Given the description of an element on the screen output the (x, y) to click on. 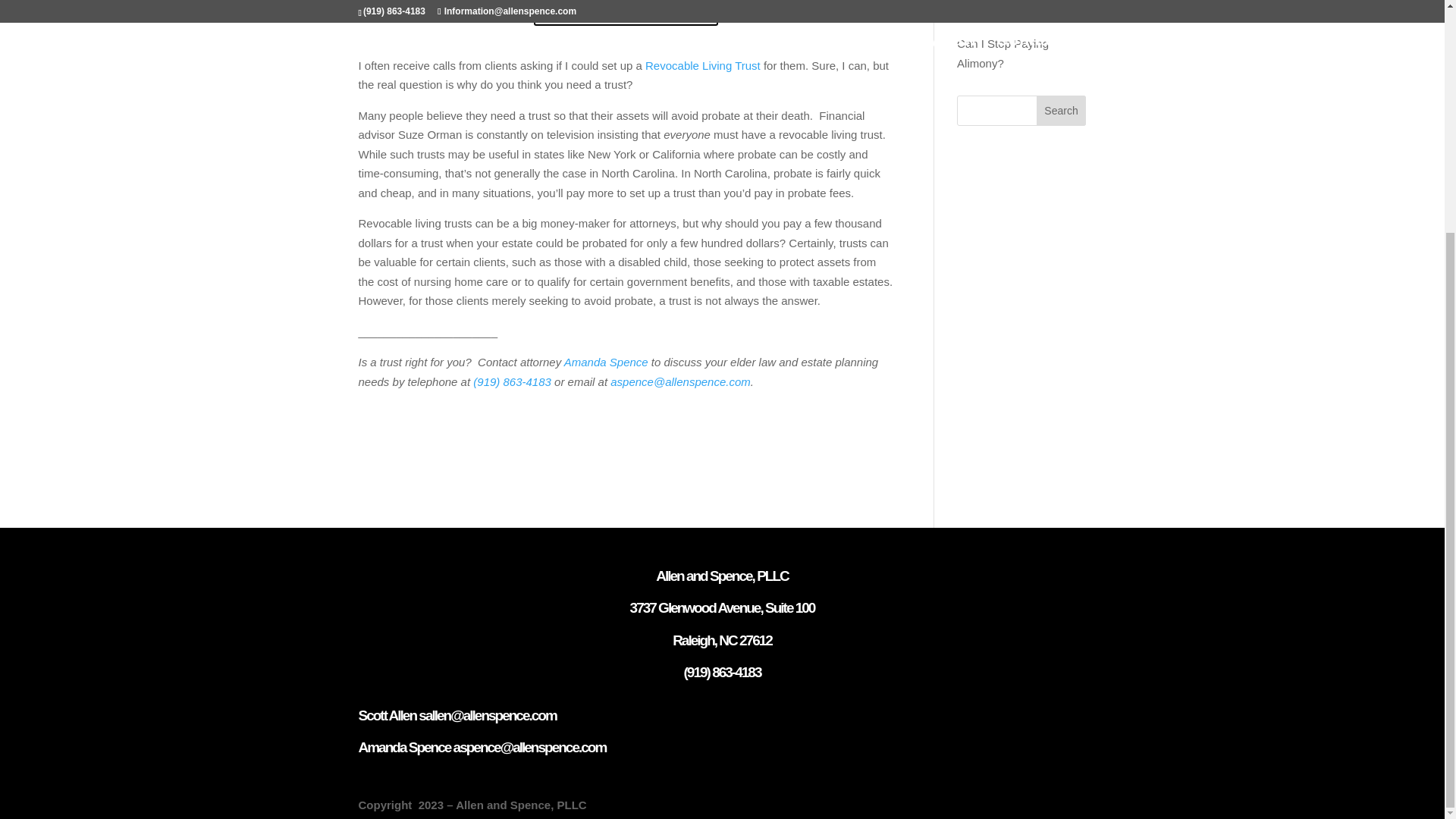
Revocable Living Trust (702, 65)
Amanda Spence (605, 361)
Can I Stop Paying Alimony? (1002, 52)
Search (1061, 110)
Search (1061, 110)
